Given the description of an element on the screen output the (x, y) to click on. 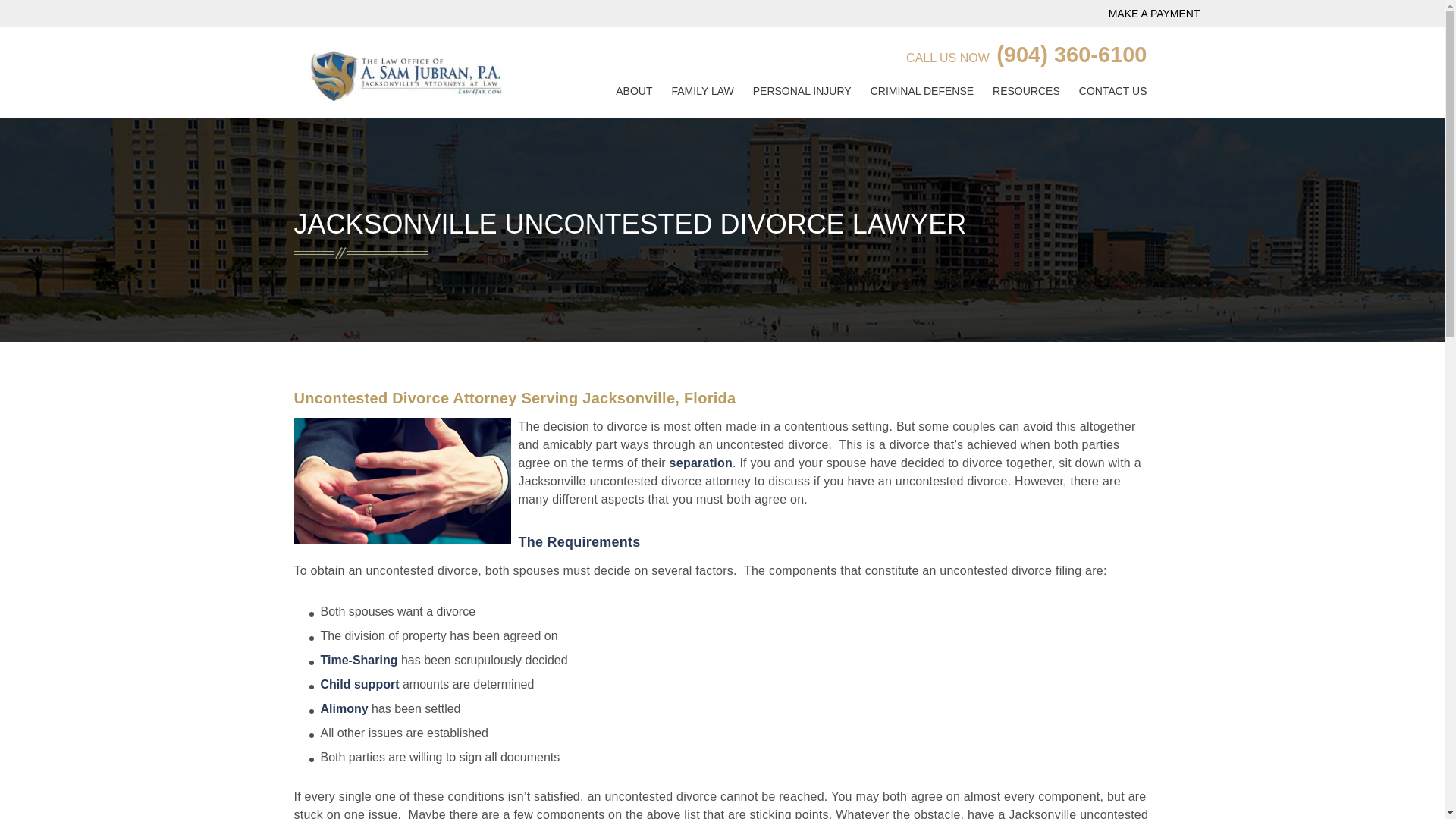
MAKE A PAYMENT (1153, 13)
Jacksonville Uncontested Divorce Lawyer (402, 480)
